Given the description of an element on the screen output the (x, y) to click on. 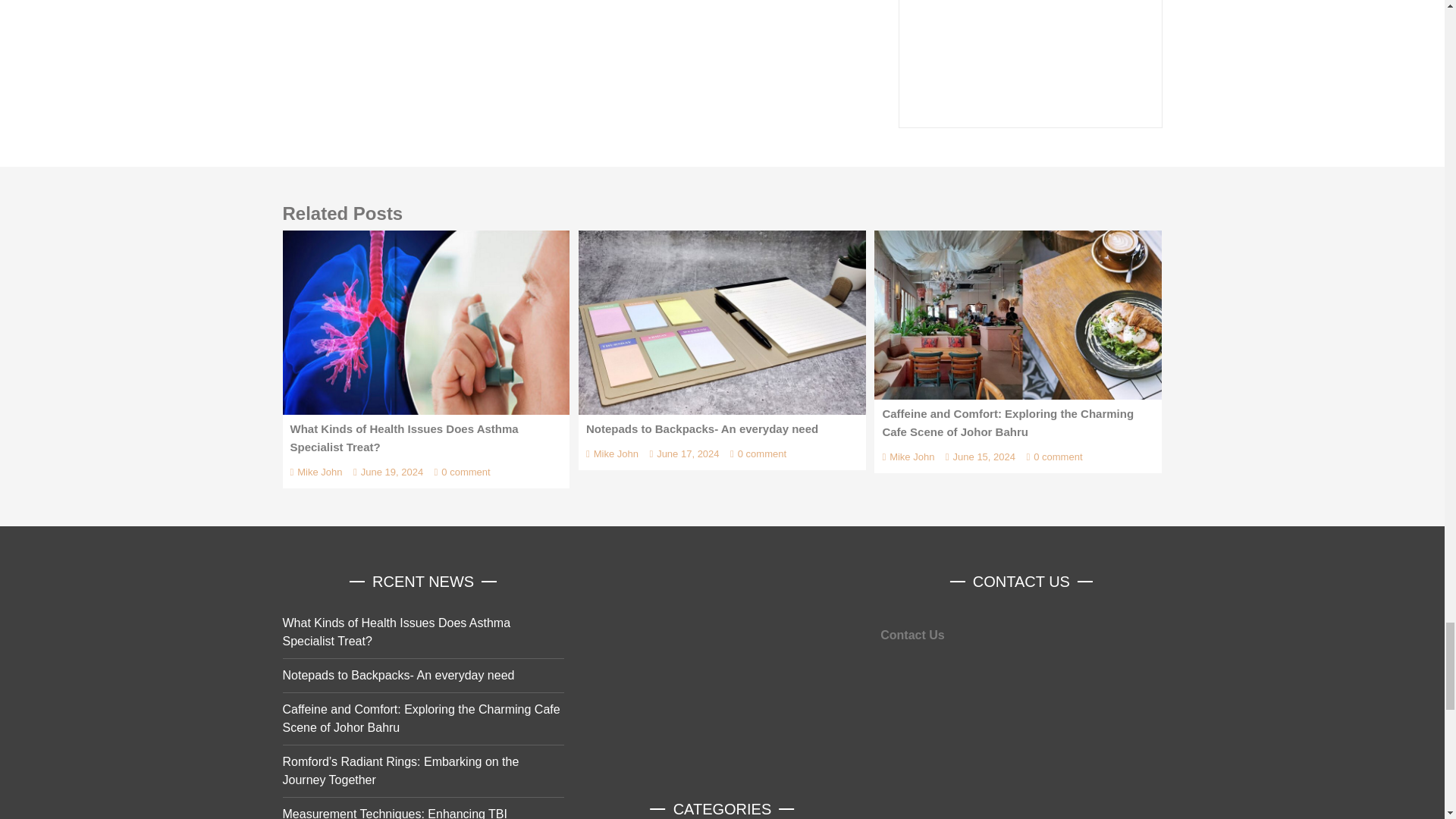
What Kinds of Health Issues Does Asthma Specialist Treat? (425, 322)
Notepads to Backpacks- An everyday need (722, 322)
